Given the description of an element on the screen output the (x, y) to click on. 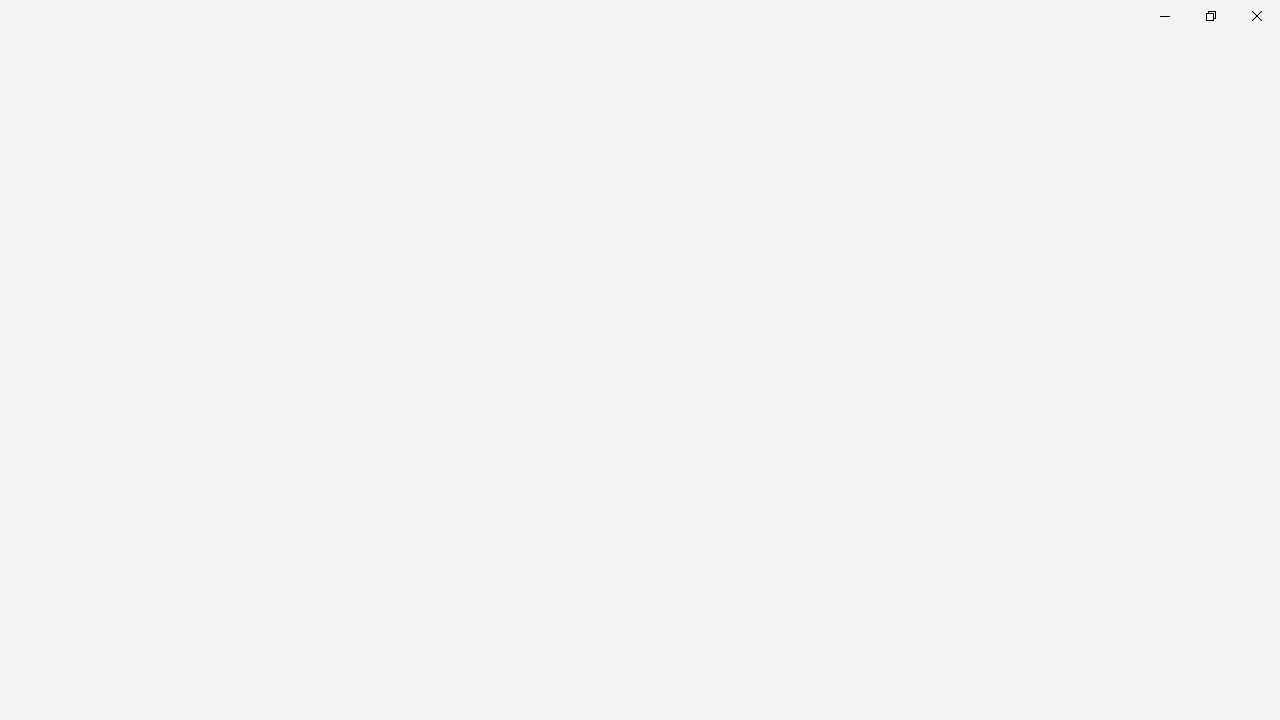
Restore Calculator (1210, 15)
Close Calculator (1256, 15)
Minimize Calculator (1164, 15)
